Given the description of an element on the screen output the (x, y) to click on. 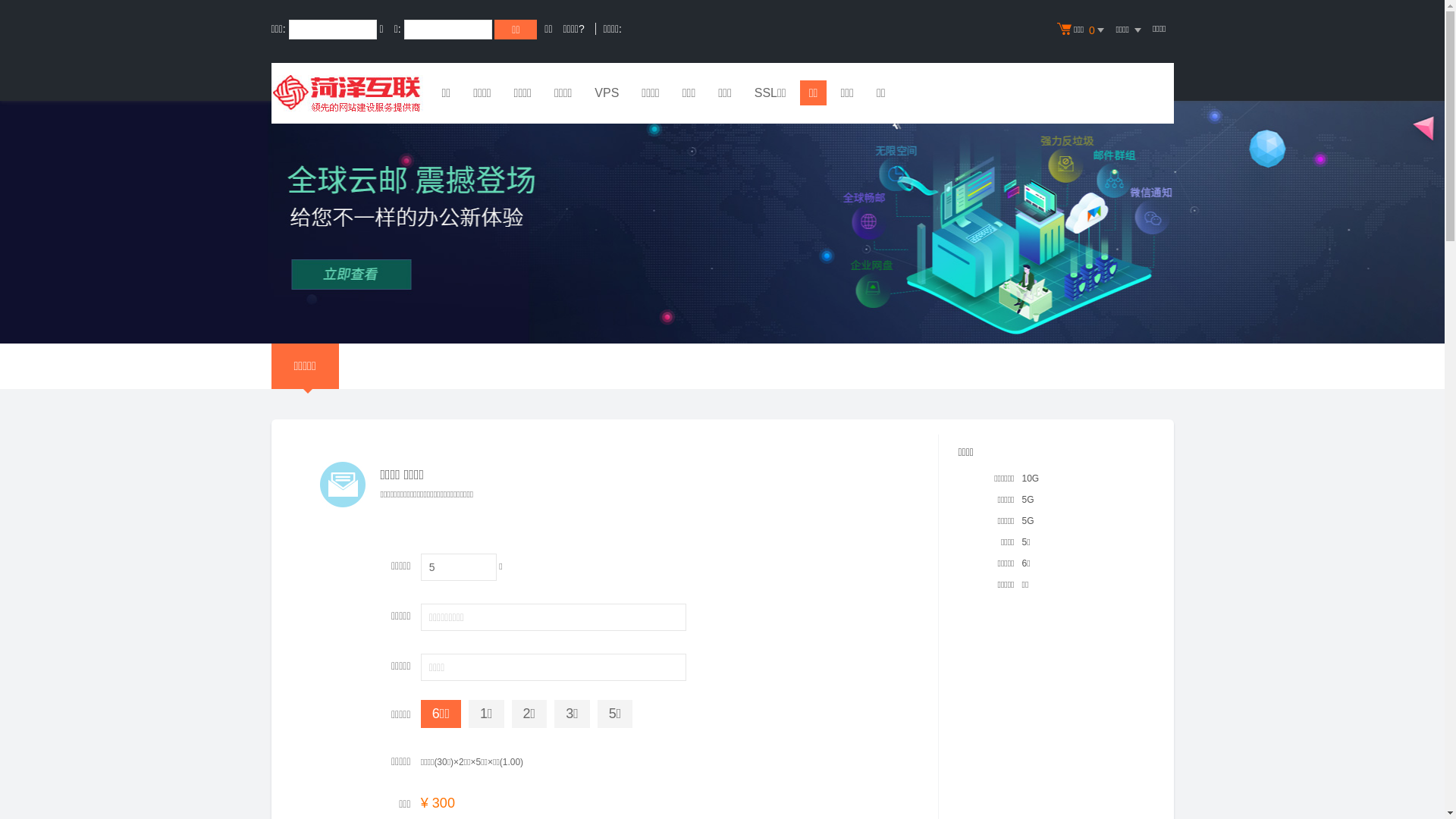
VPS Element type: text (606, 94)
